Given the description of an element on the screen output the (x, y) to click on. 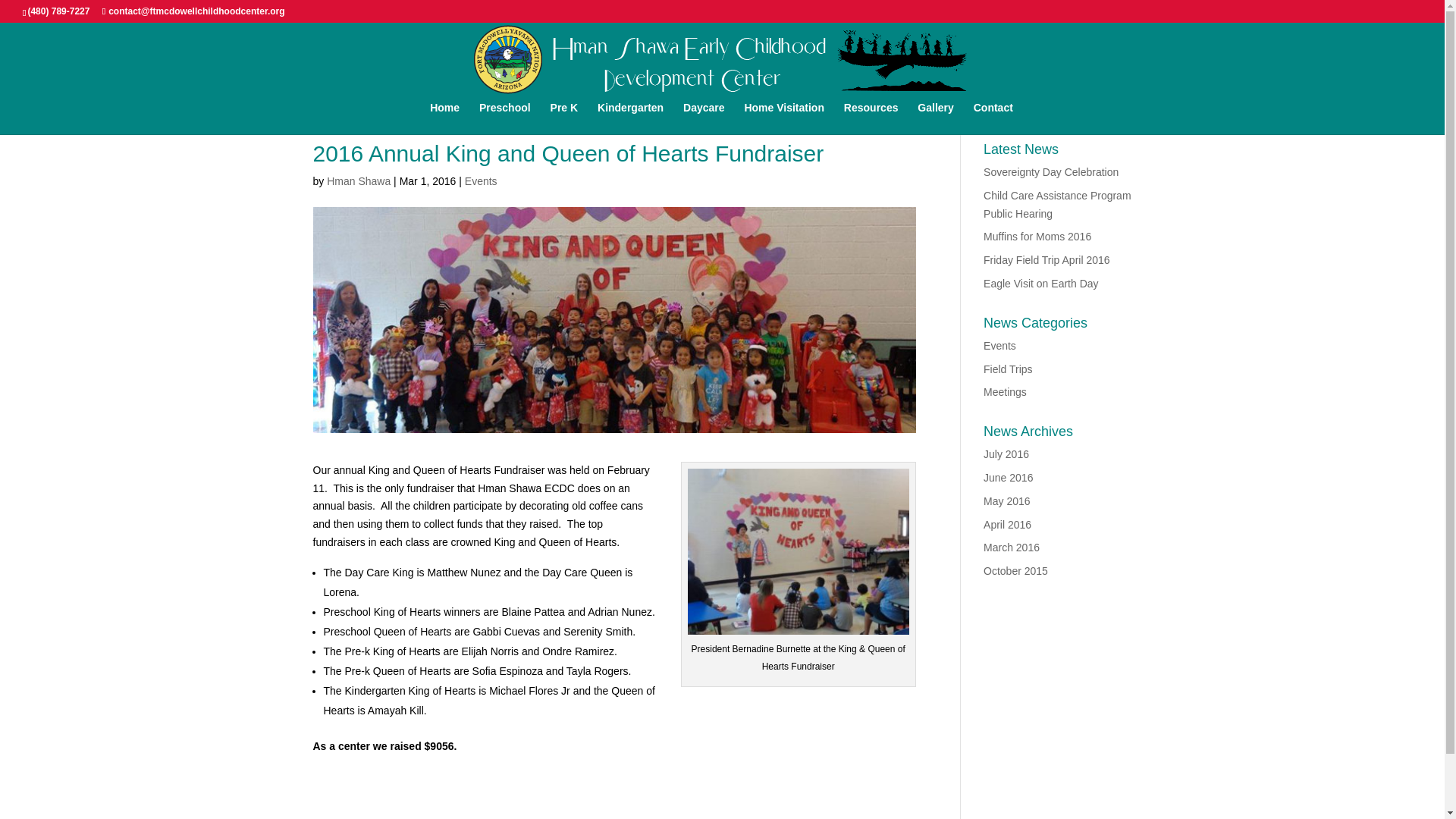
May 2016 (1006, 500)
Friday Field Trip April 2016 (1046, 259)
Muffins for Moms 2016 (1037, 236)
Home (444, 118)
Child Care Assistance Program Public Hearing (1057, 204)
Events (1000, 345)
Eagle Visit on Earth Day (1041, 283)
October 2015 (1016, 571)
Posts by Hman Shawa (358, 181)
Kindergarten (629, 118)
